Given the description of an element on the screen output the (x, y) to click on. 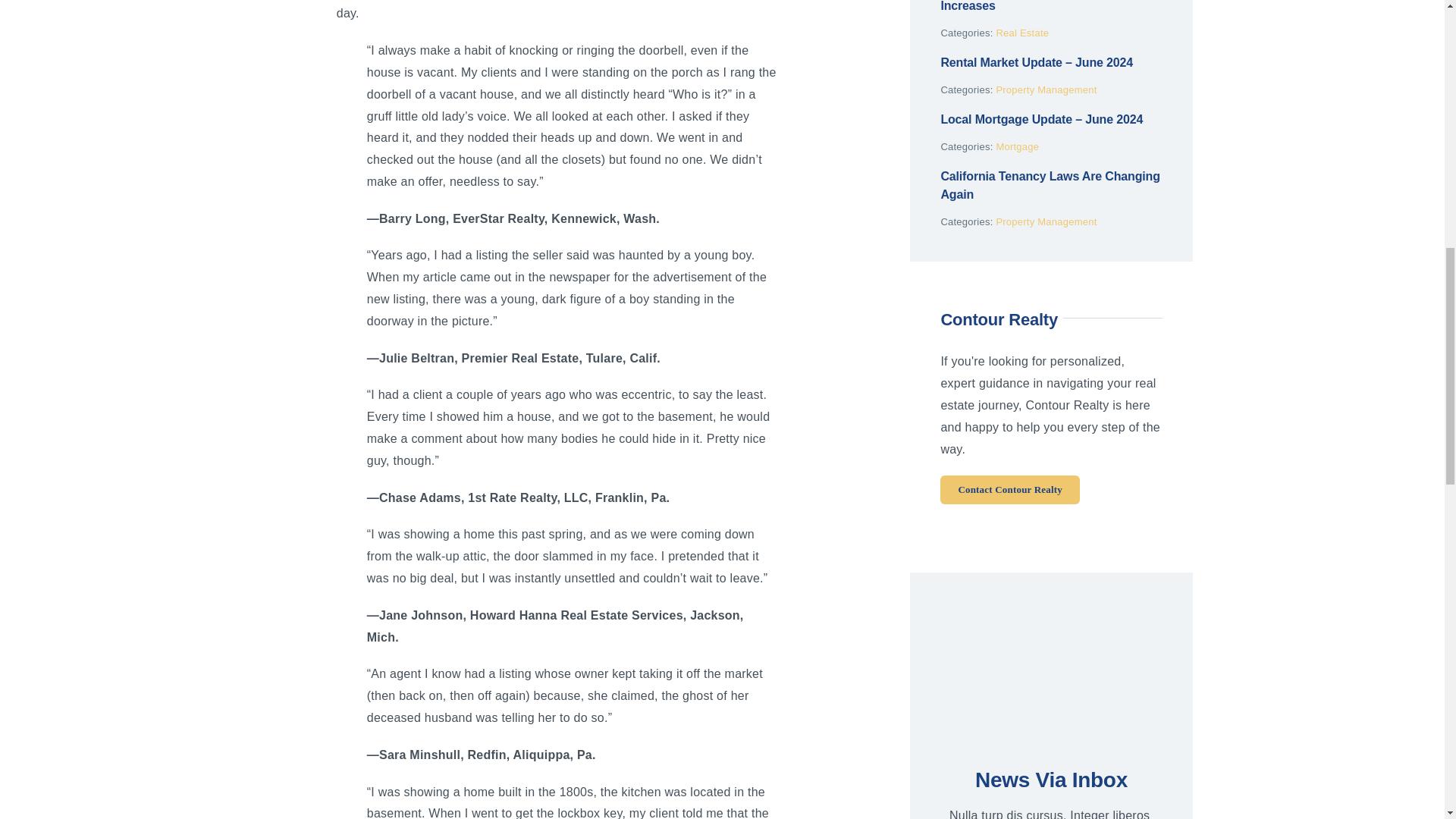
Contact Contour Realty (1010, 489)
Mortgage (1017, 146)
Property Management (1045, 221)
Four Decades Of US Home Price Increases (1032, 6)
California Tenancy Laws Are Changing Again (1049, 184)
newsletter-icon (1051, 675)
Real Estate (1021, 32)
Property Management (1045, 89)
